Given the description of an element on the screen output the (x, y) to click on. 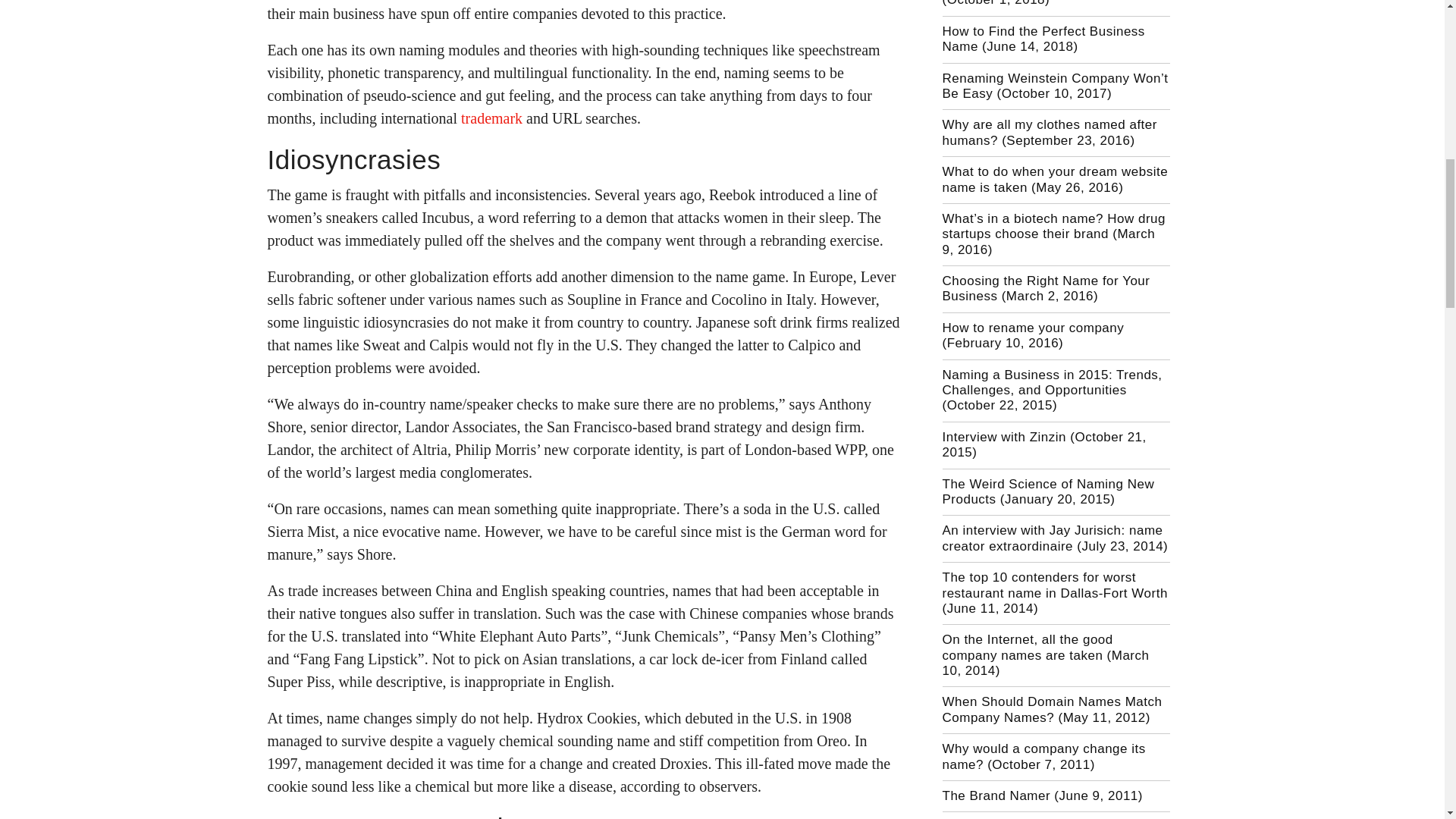
Permalink to Interview with Zinzin (1043, 444)
Permalink to How to Find the Perfect Business Name (1043, 39)
Permalink to Why are all my clothes named after humans? (1049, 132)
Permalink to Choosing the Right Name for Your Business (1046, 288)
Permalink to The Weird Science of Naming New Products (1048, 491)
trademark (491, 117)
Permalink to How to rename your company (1033, 335)
